Given the description of an element on the screen output the (x, y) to click on. 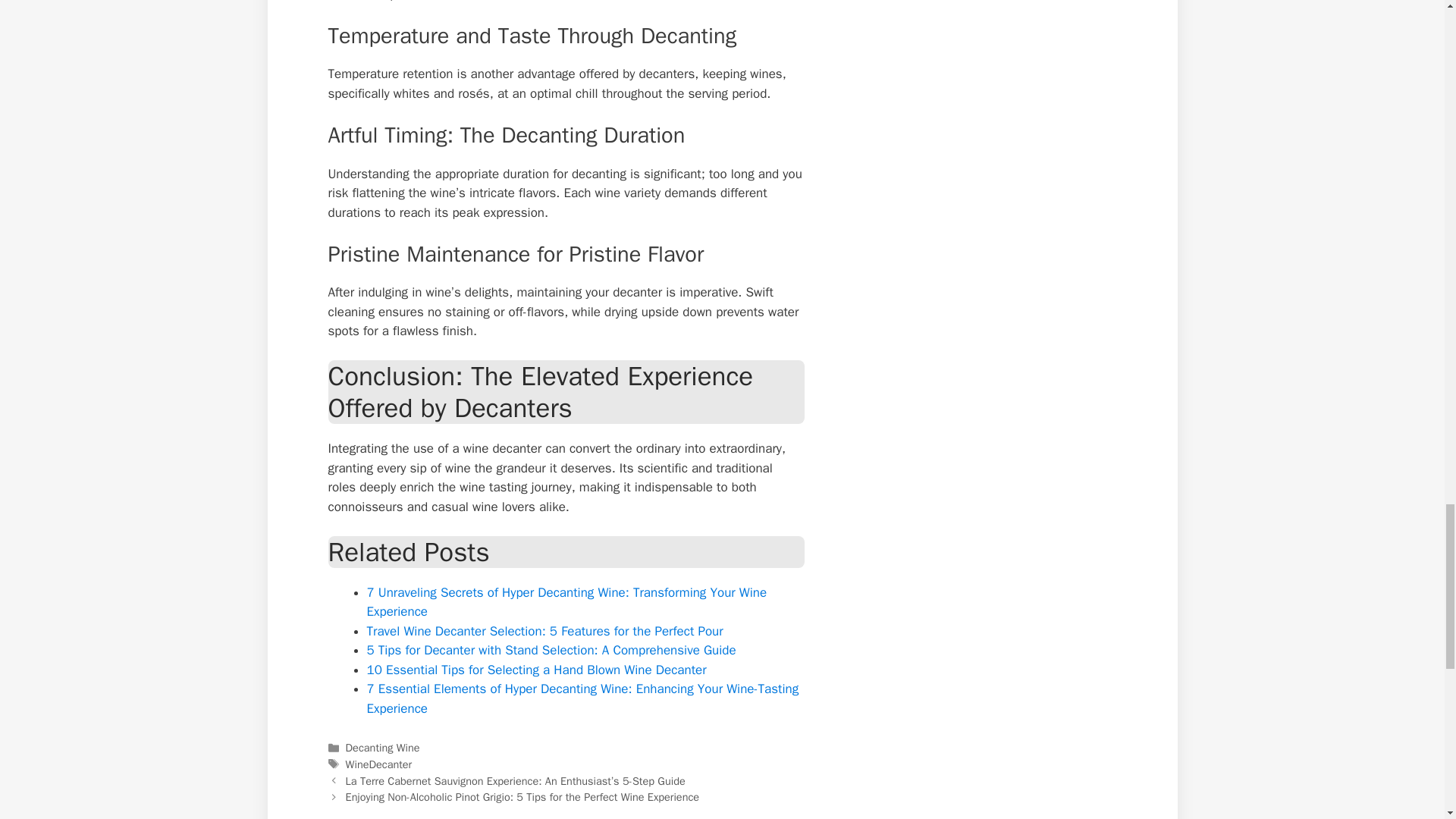
Decanting Wine (383, 747)
WineDecanter (379, 764)
10 Essential Tips for Selecting a Hand Blown Wine Decanter (536, 669)
